Given the description of an element on the screen output the (x, y) to click on. 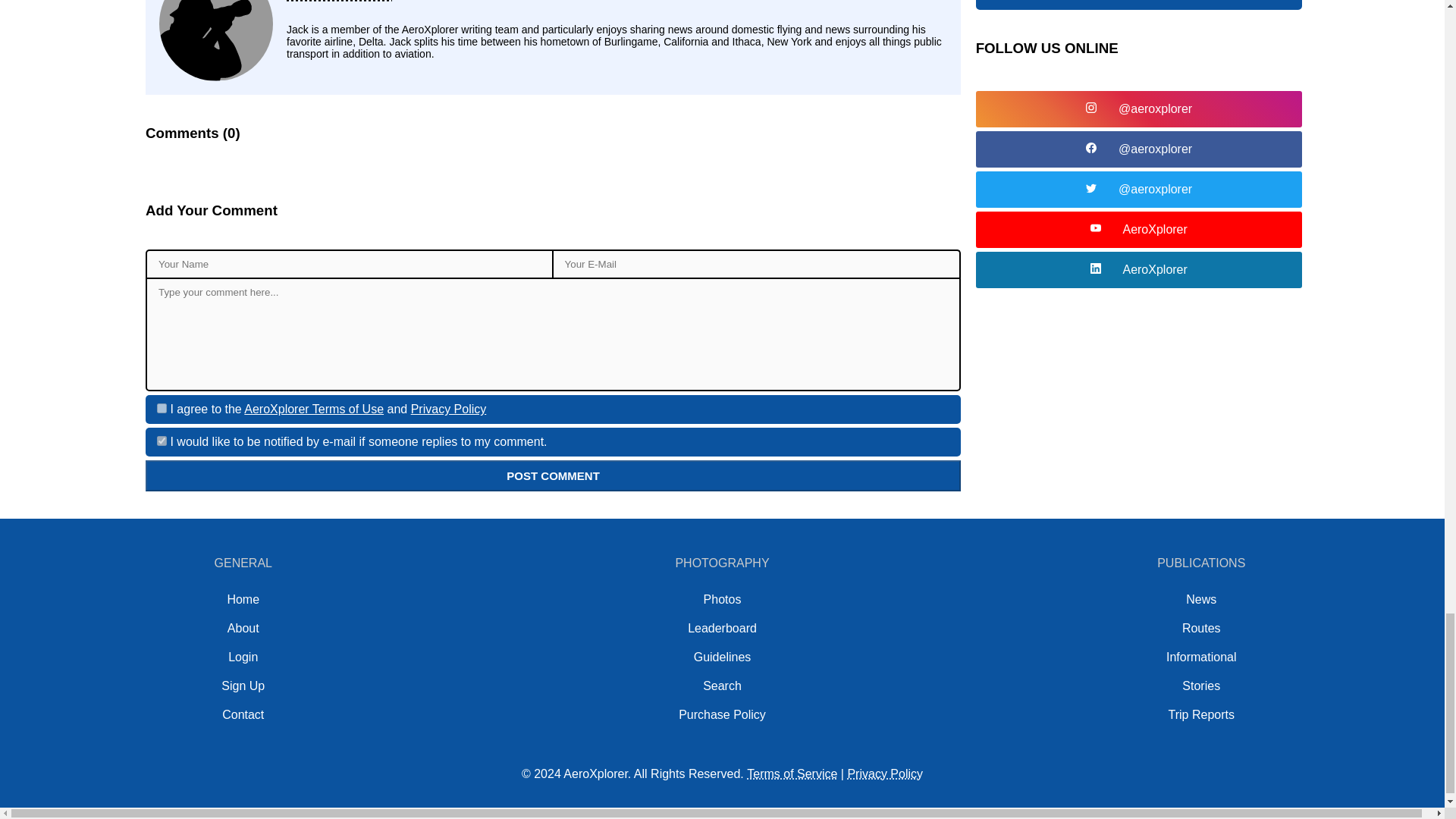
TRUE (162, 440)
on (162, 408)
Post Comment (552, 475)
